Given the description of an element on the screen output the (x, y) to click on. 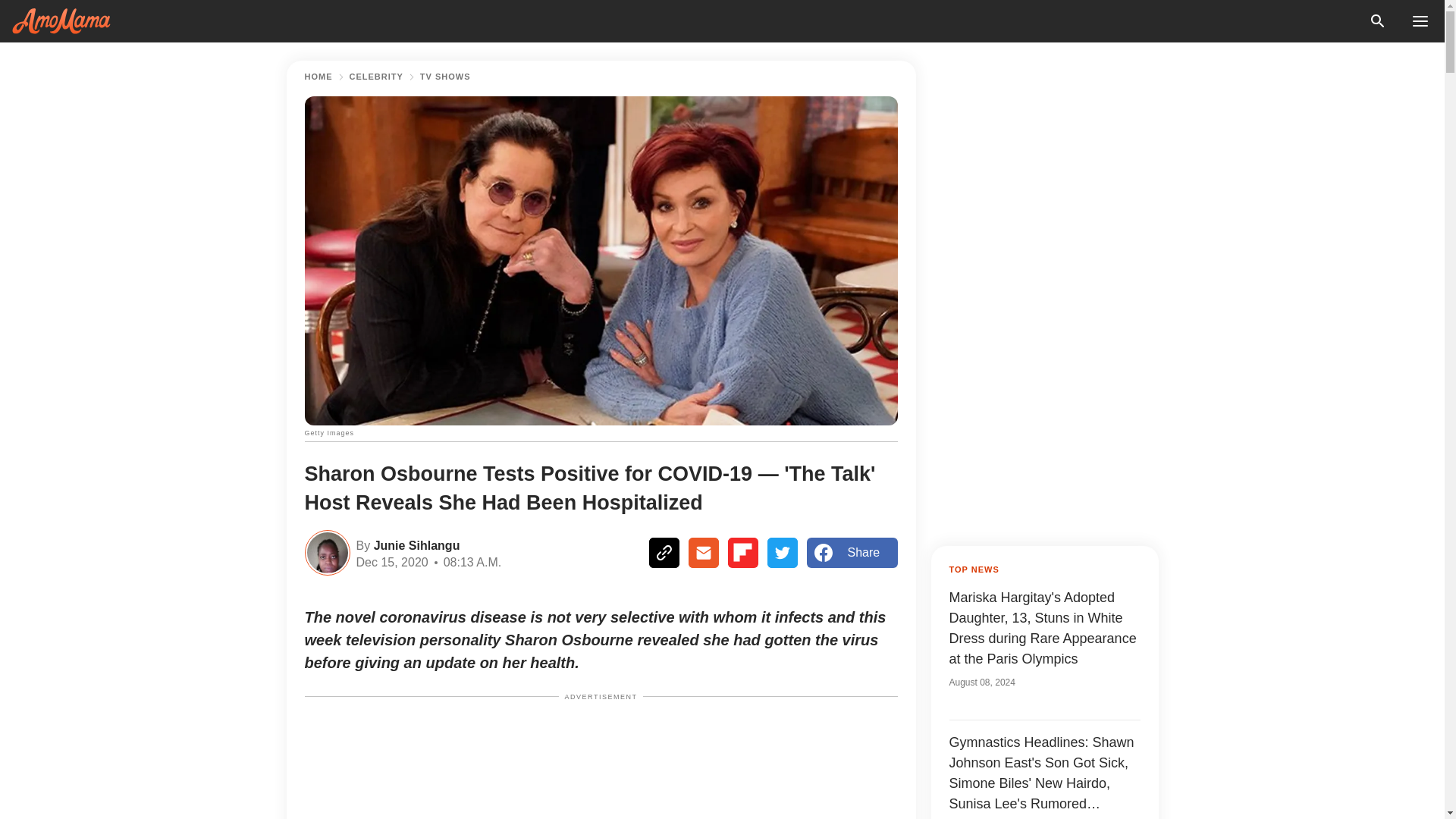
HOME (318, 76)
CELEBRITY (376, 76)
Junie Sihlangu (414, 544)
TV SHOWS (445, 76)
